Given the description of an element on the screen output the (x, y) to click on. 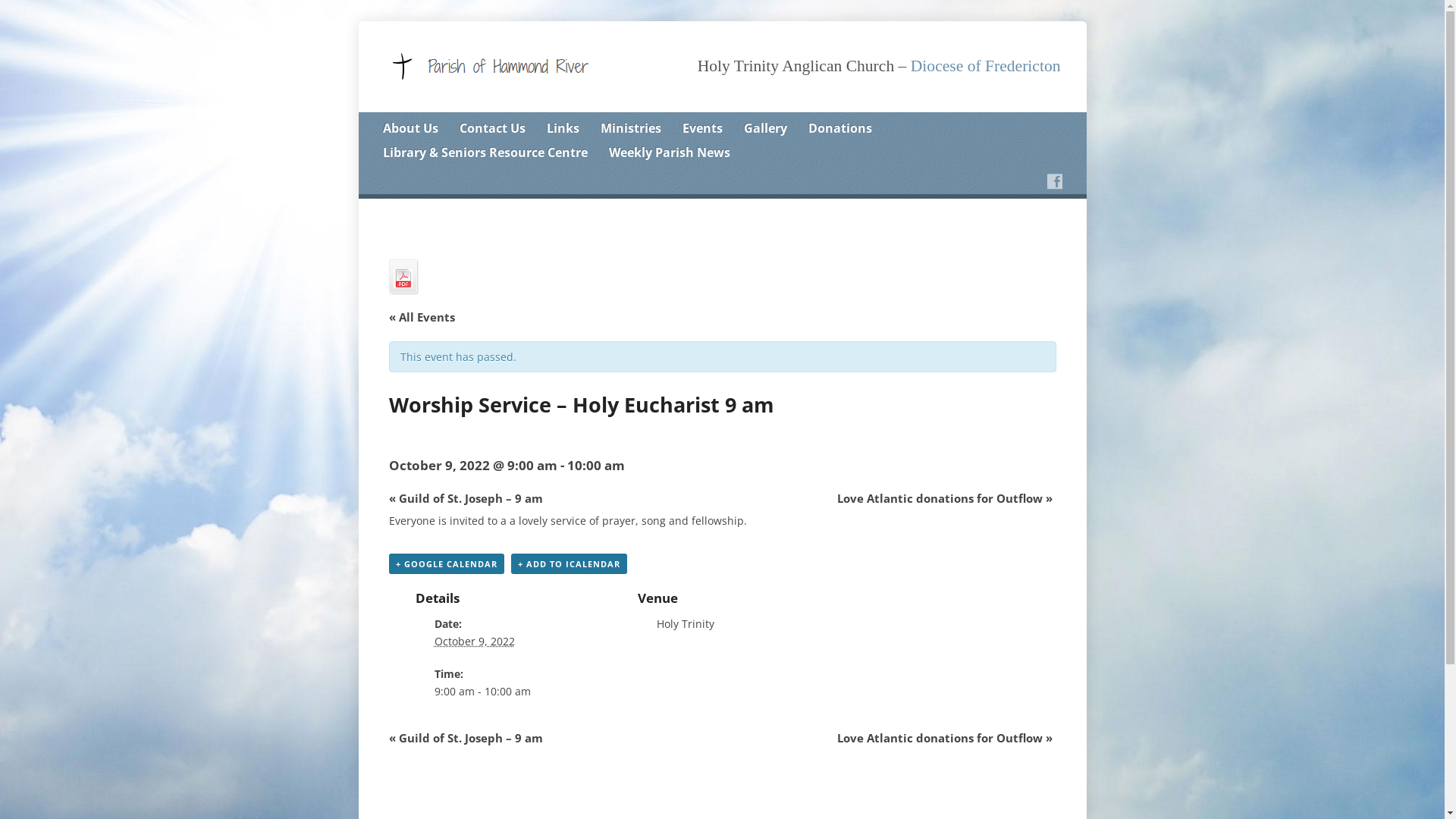
Facebook Element type: hover (1053, 180)
Diocese of Fredericton Element type: text (985, 65)
Weekly Parish News Element type: text (668, 153)
Ministries Element type: text (630, 128)
Gallery Element type: text (764, 128)
Links Element type: text (562, 128)
+ GOOGLE CALENDAR Element type: text (445, 563)
Library & Seniors Resource Centre Element type: text (484, 153)
About Us Element type: text (409, 128)
Events Element type: text (702, 128)
Contact Us Element type: text (492, 128)
+ ADD TO ICALENDAR Element type: text (569, 563)
Donations Element type: text (840, 128)
